Given the description of an element on the screen output the (x, y) to click on. 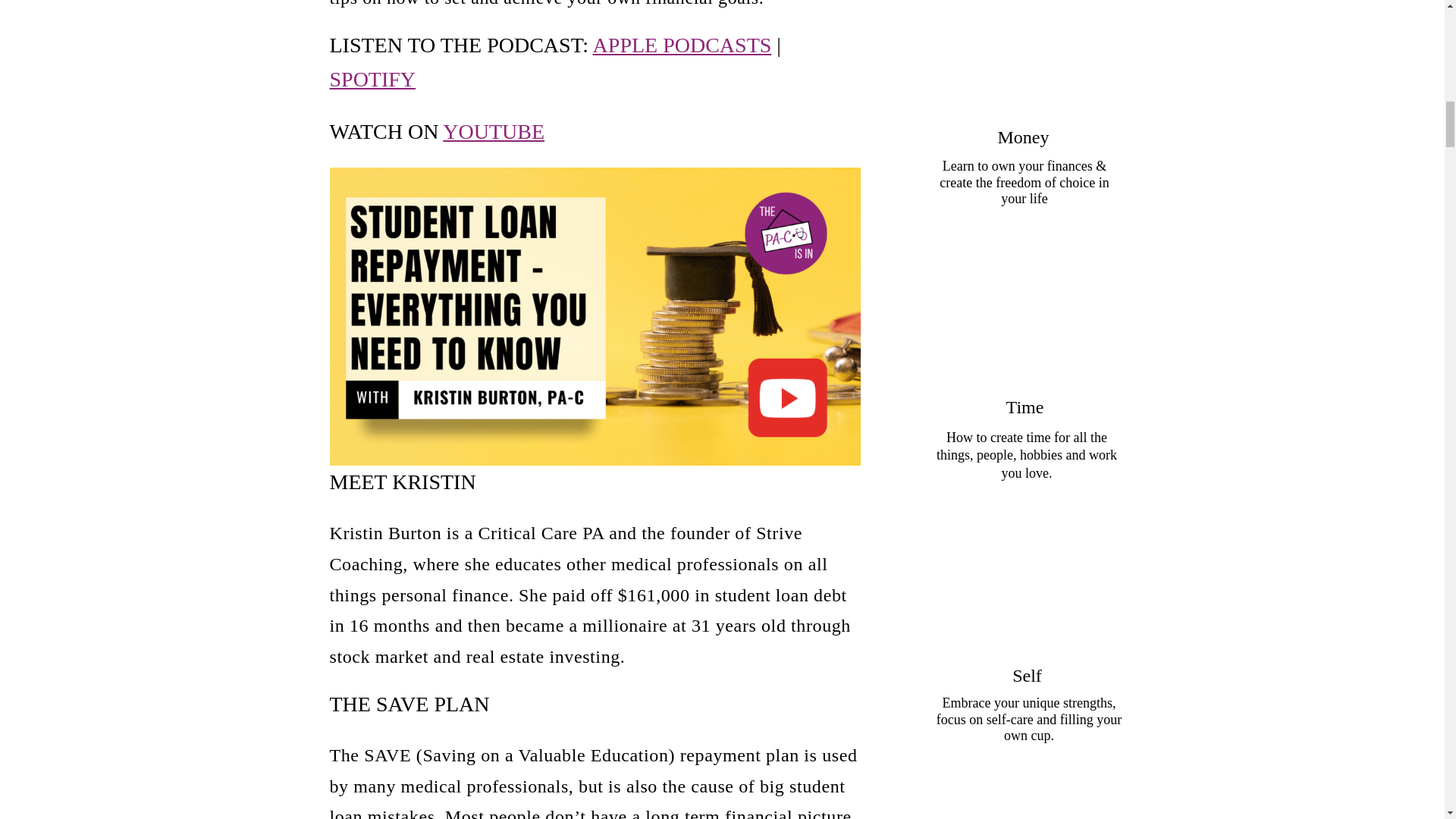
Money (1022, 136)
Self (1026, 674)
Time (1023, 406)
